Given the description of an element on the screen output the (x, y) to click on. 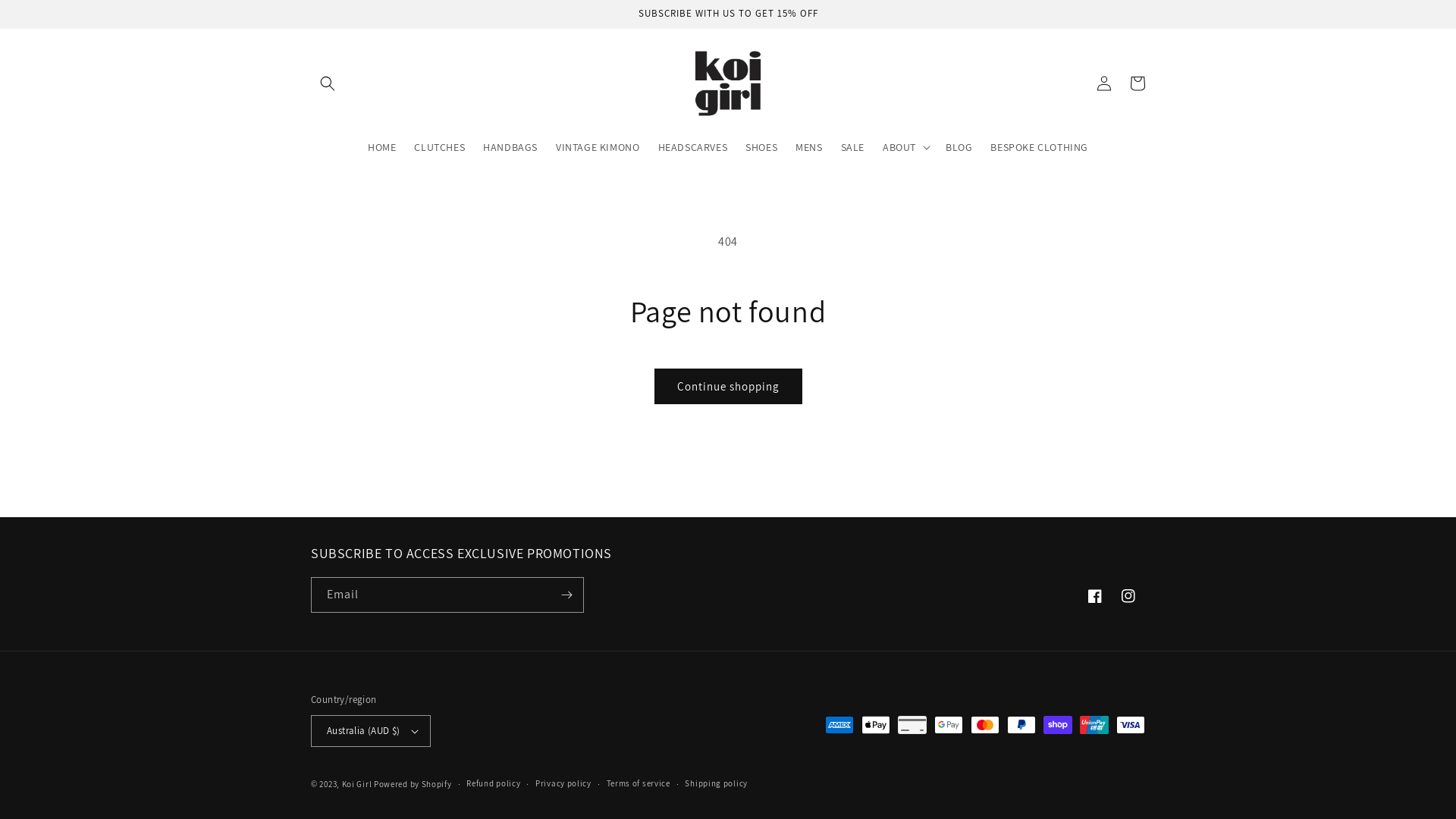
Instagram Element type: text (1128, 595)
Koi Girl Element type: text (357, 783)
Shipping policy Element type: text (715, 783)
Terms of service Element type: text (638, 783)
HANDBAGS Element type: text (509, 147)
Continue shopping Element type: text (727, 386)
SALE Element type: text (852, 147)
BESPOKE CLOTHING Element type: text (1039, 147)
Australia (AUD $) Element type: text (370, 730)
Cart Element type: text (1137, 83)
MENS Element type: text (808, 147)
HEADSCARVES Element type: text (693, 147)
SHOES Element type: text (761, 147)
Powered by Shopify Element type: text (412, 783)
Facebook Element type: text (1094, 595)
Privacy policy Element type: text (563, 783)
VINTAGE KIMONO Element type: text (597, 147)
HOME Element type: text (381, 147)
CLUTCHES Element type: text (438, 147)
Log in Element type: text (1103, 83)
Refund policy Element type: text (493, 783)
BLOG Element type: text (958, 147)
